Given the description of an element on the screen output the (x, y) to click on. 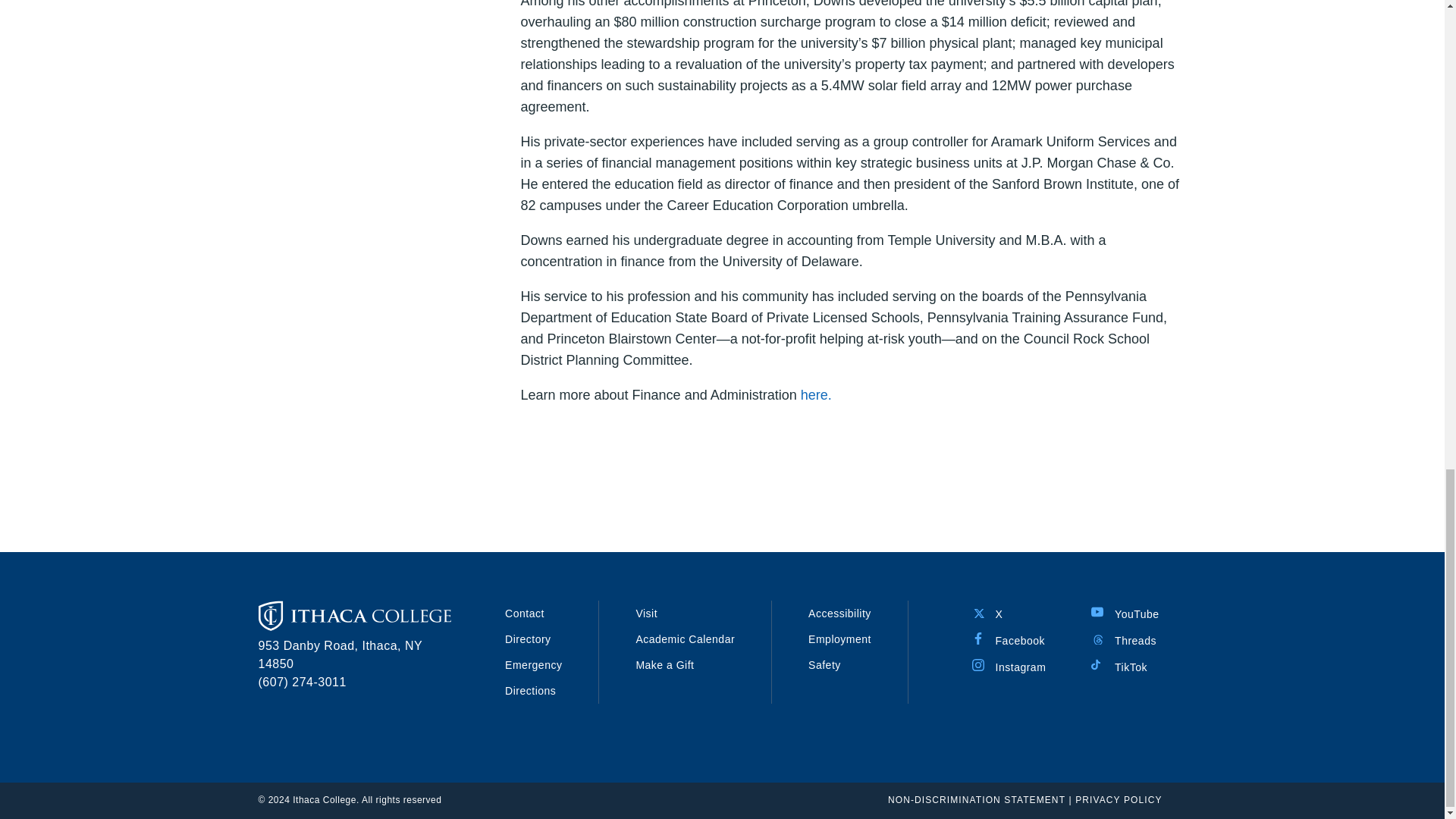
Giving to Ithaca College (664, 664)
Jobs at Ithaca College (839, 639)
Driving directions to Ithaca College (530, 690)
Contact Ithaca College (524, 613)
Accessibility at Ithaca College (839, 613)
Threads icon (1096, 638)
Emergency information (533, 664)
Search current faculty, staff, and students (528, 639)
Academic Calendar (684, 639)
x icon (978, 612)
Visit Ithaca College (646, 613)
facebook icon Created with Sketch. (978, 638)
youtube icon Created with Sketch. (1096, 612)
TikTock icon (1096, 664)
istagram icon Created with Sketch. (978, 664)
